Given the description of an element on the screen output the (x, y) to click on. 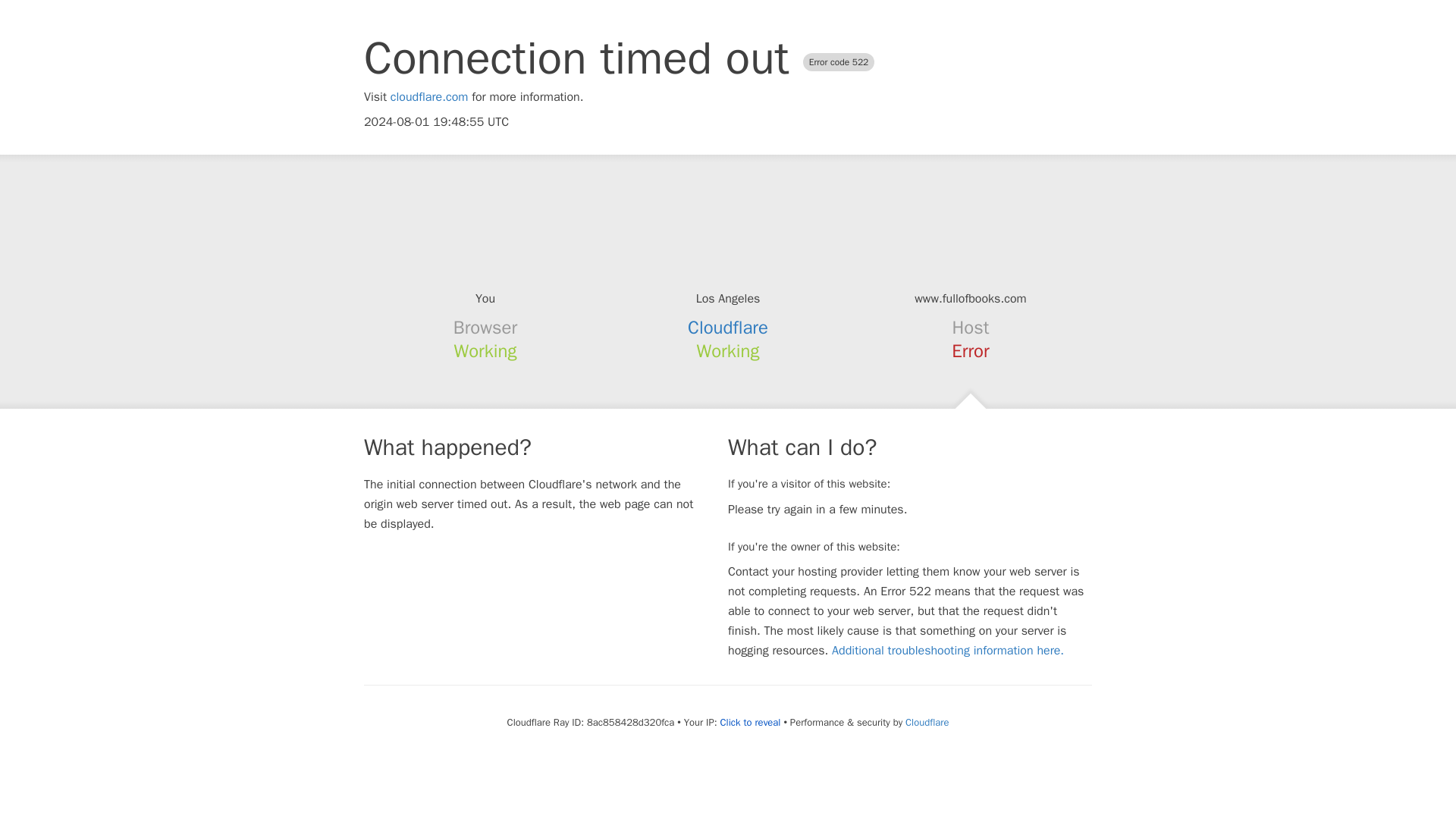
Cloudflare (927, 721)
Cloudflare (727, 327)
cloudflare.com (429, 96)
Additional troubleshooting information here. (947, 650)
Click to reveal (750, 722)
